Given the description of an element on the screen output the (x, y) to click on. 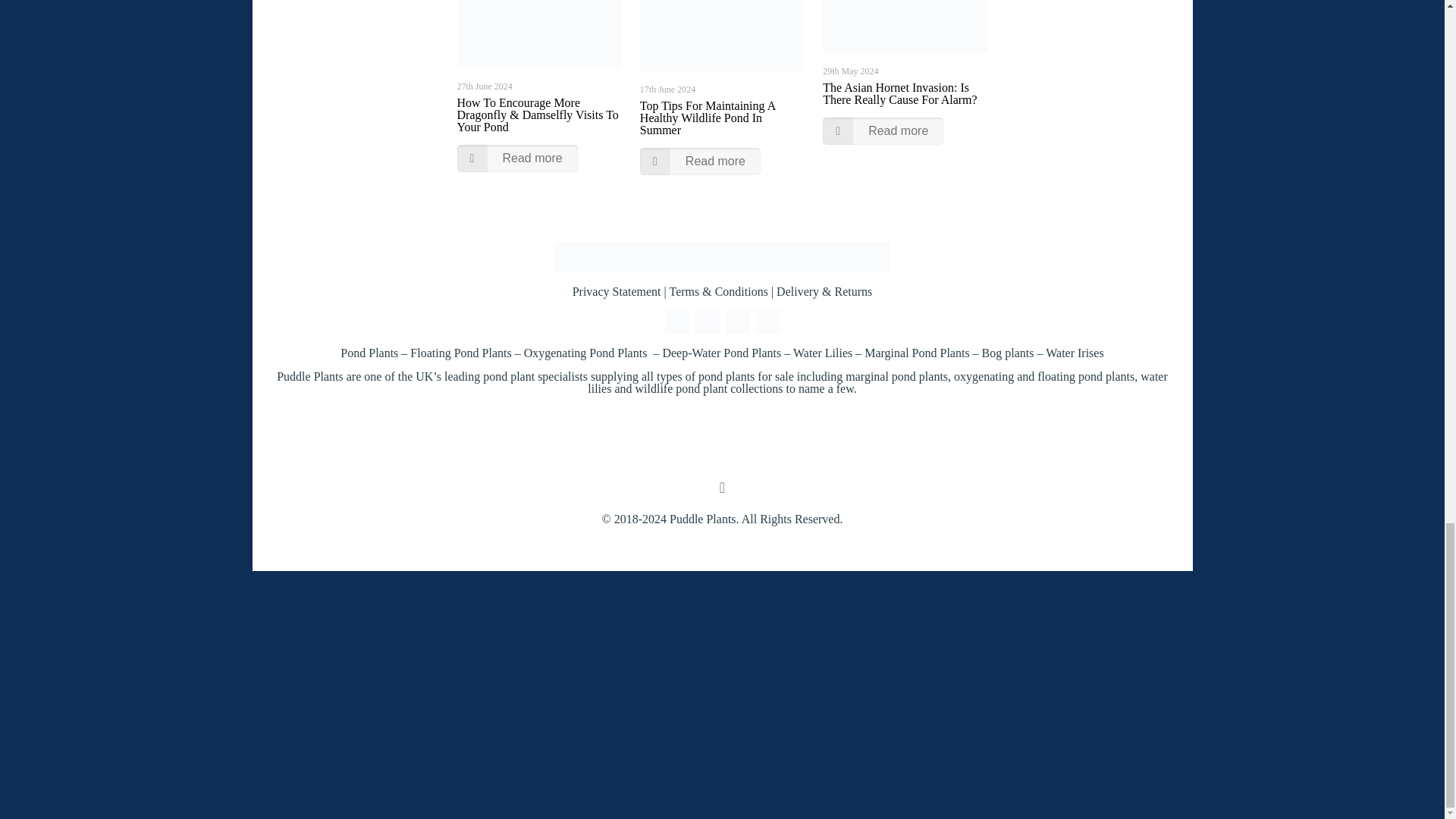
Read more (516, 157)
Read more (700, 161)
Top Tips For Maintaining A Healthy Wildlife Pond In Summer (707, 117)
